Given the description of an element on the screen output the (x, y) to click on. 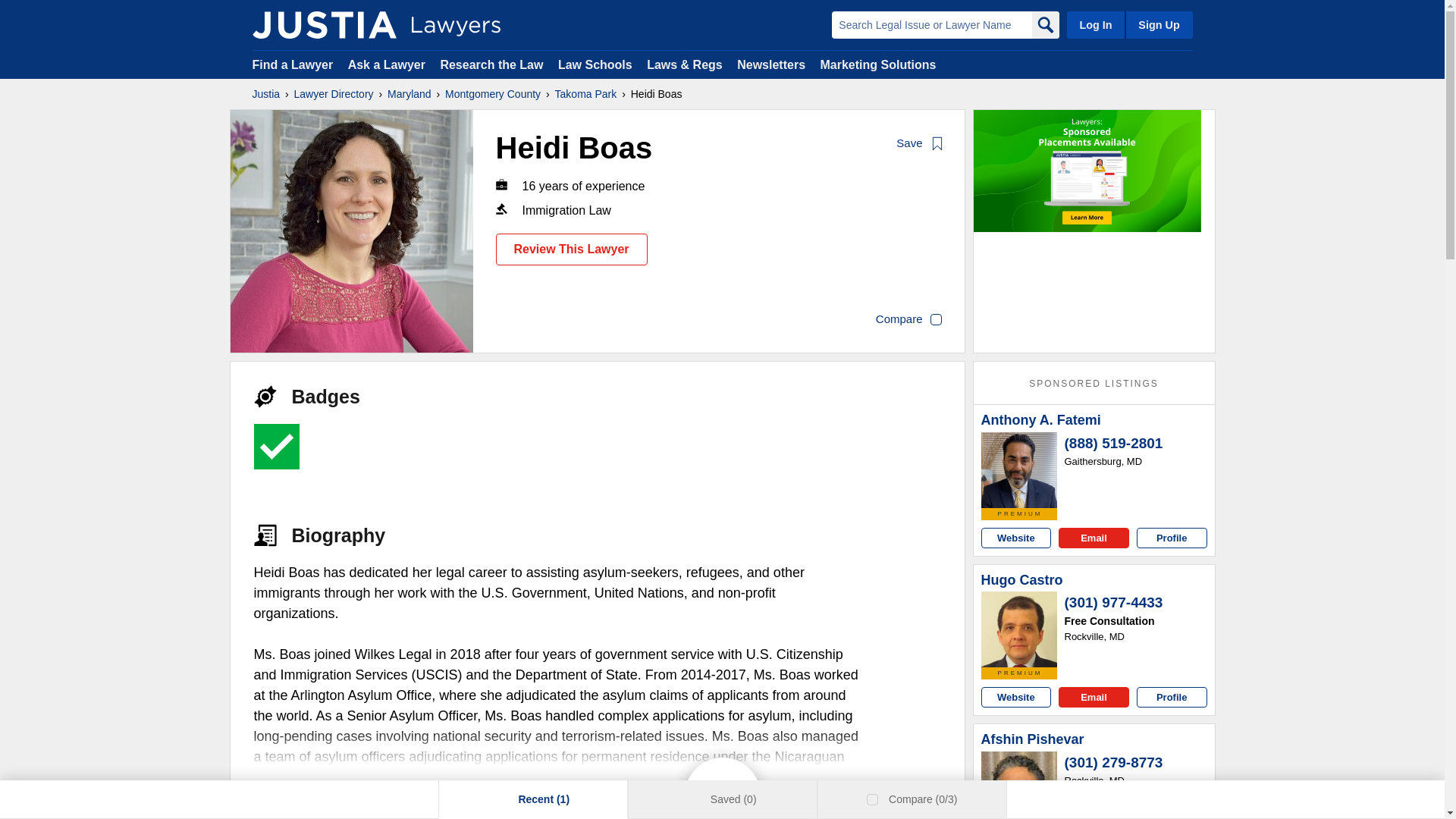
Maryland (408, 93)
Log In (1094, 24)
Anthony A. Fatemi (1019, 469)
Law Schools (594, 64)
Justia Lawyer Directory (323, 24)
Search Legal Issue or Lawyer Name (930, 24)
Heidi Boas (351, 230)
Save (919, 143)
Ask a Lawyer (388, 64)
Justia (265, 93)
Lawyer Directory (334, 93)
Find a Lawyer (292, 64)
Sign Up (1158, 24)
Research the Law (491, 64)
Review This Lawyer (571, 249)
